Given the description of an element on the screen output the (x, y) to click on. 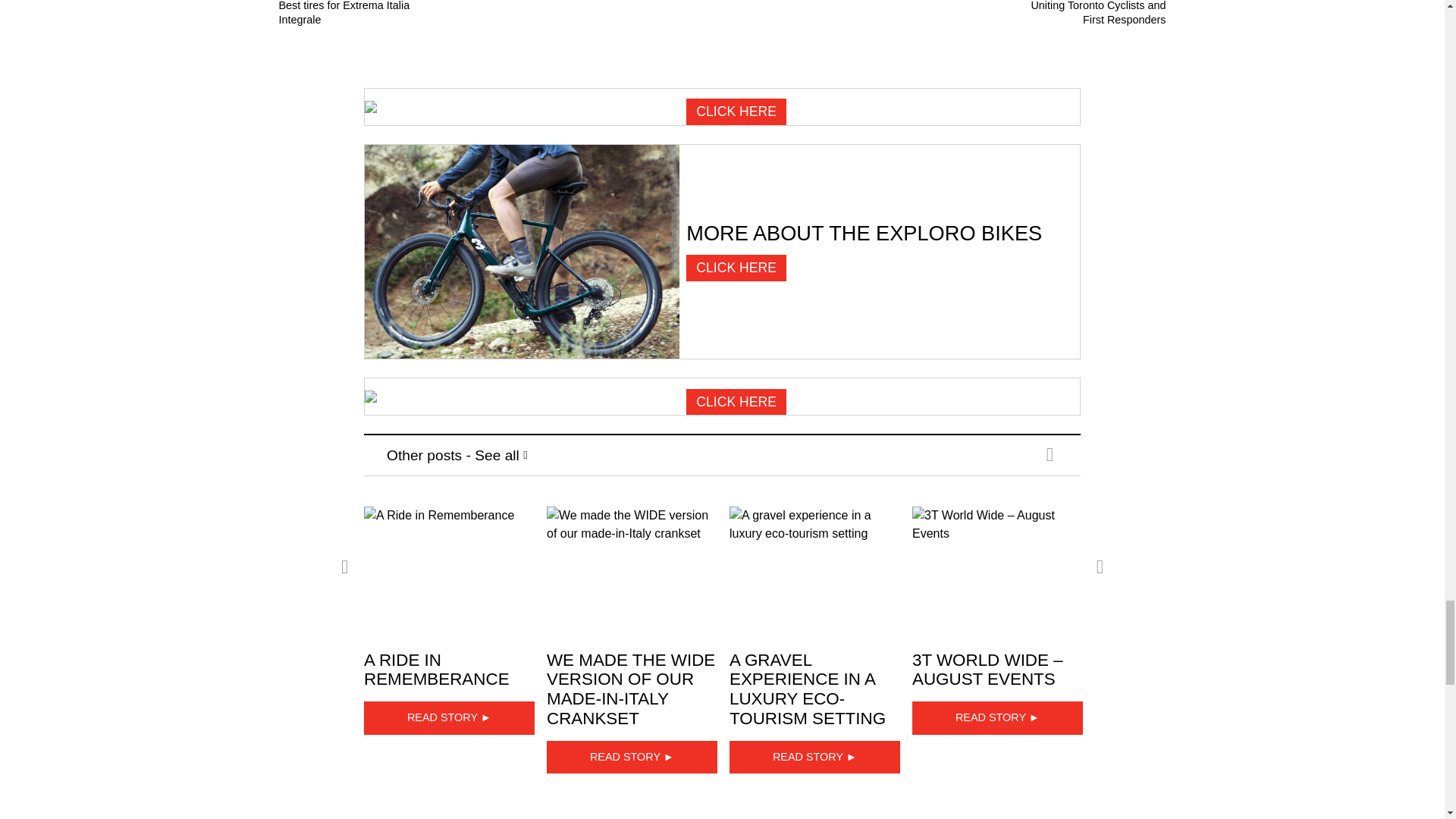
A gravel experience in a luxury eco-tourism setting (814, 567)
A Ride in Rememberance (449, 567)
We made the WIDE version of our made-in-Italy crankset (632, 567)
